Given the description of an element on the screen output the (x, y) to click on. 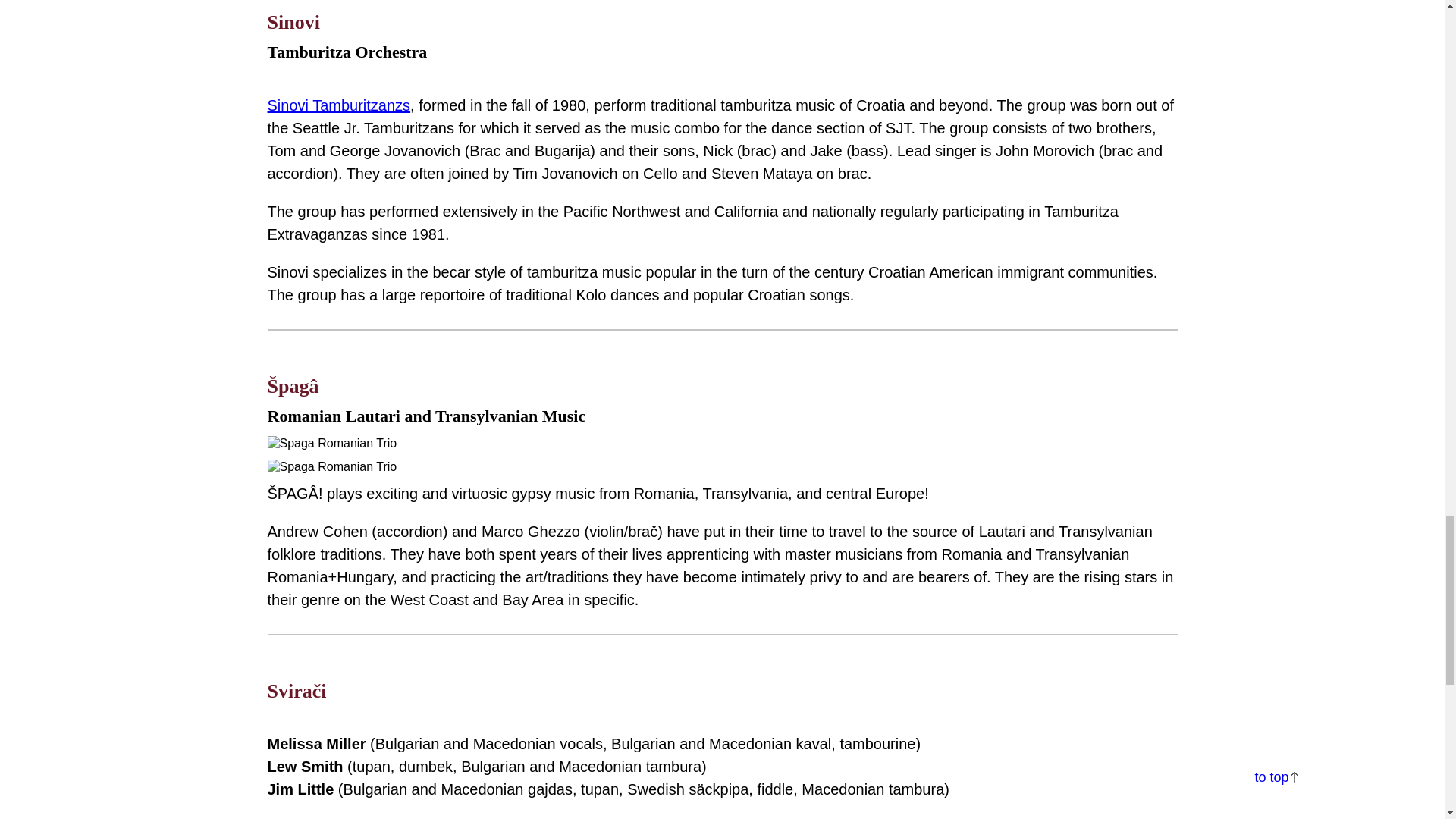
Sinovi Tamburitzanzs (338, 105)
